Given the description of an element on the screen output the (x, y) to click on. 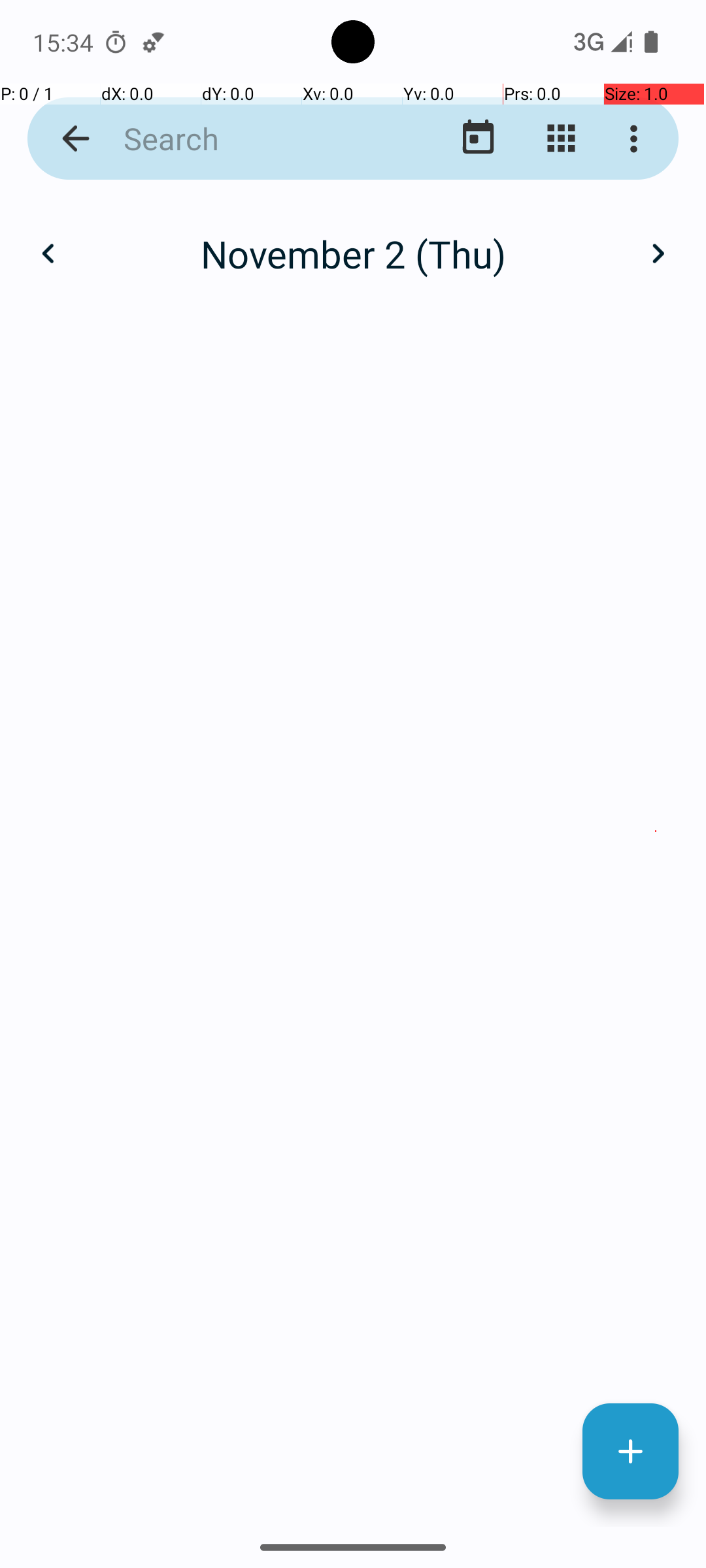
November 2 (Thu) Element type: android.widget.TextView (352, 253)
